Given the description of an element on the screen output the (x, y) to click on. 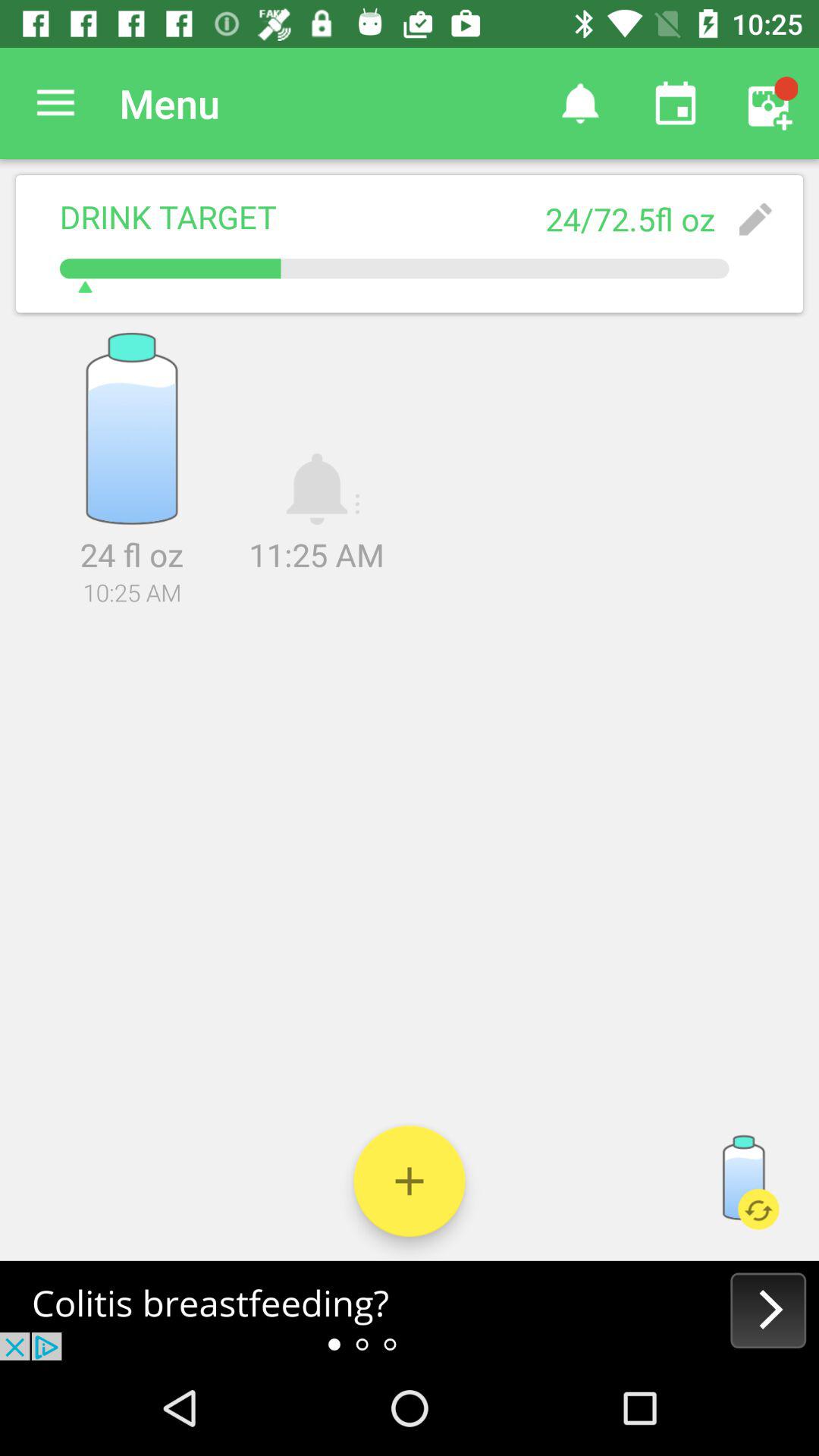
add drink (409, 1181)
